Given the description of an element on the screen output the (x, y) to click on. 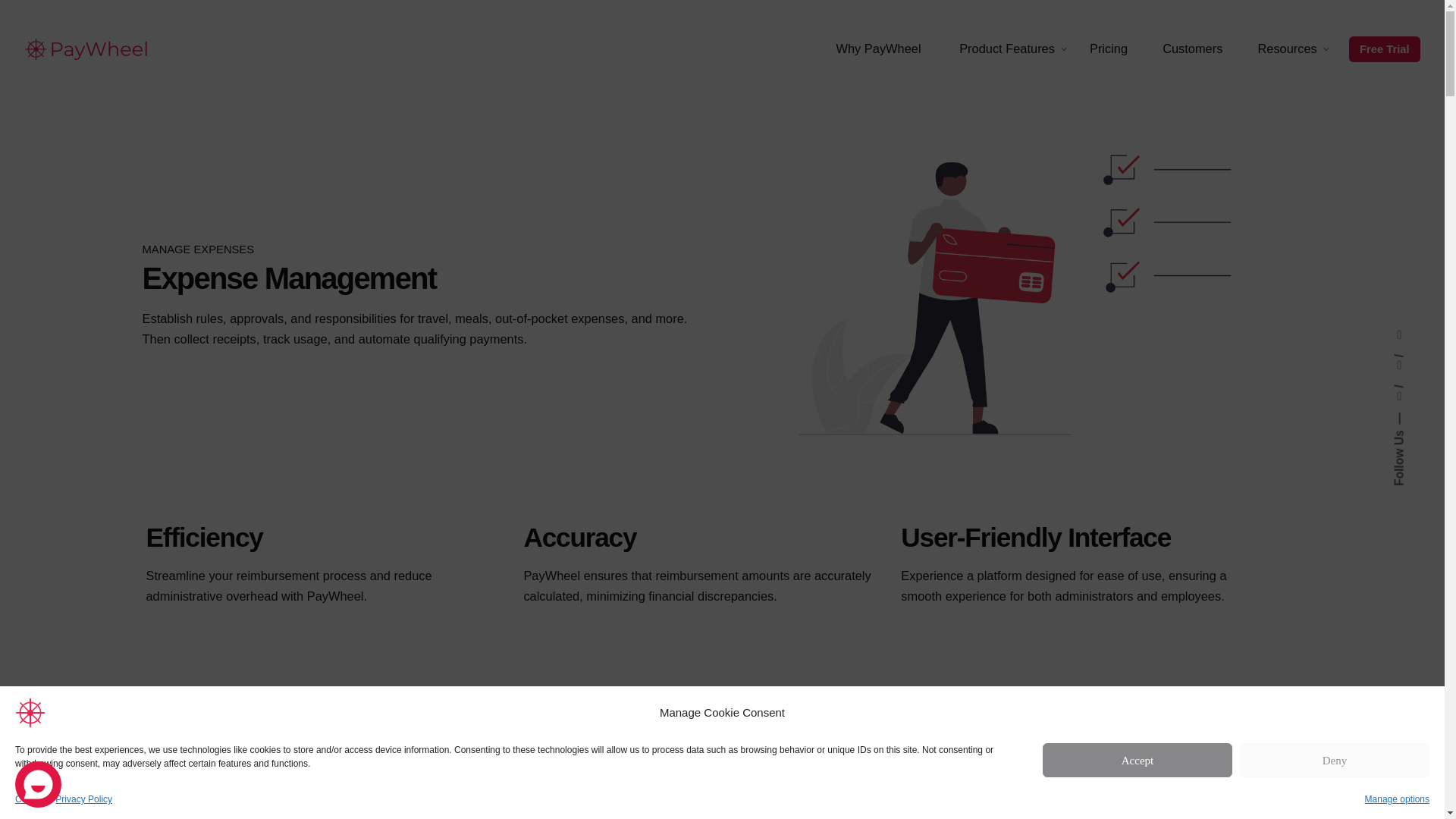
Deny (1334, 759)
Pricing (1107, 49)
Accept (1136, 759)
Resources (1286, 49)
Why PayWheel  (880, 49)
Manage options (1397, 799)
Customers (1192, 49)
Privacy Policy (83, 799)
Cookies (31, 799)
Product Features (1006, 49)
